Given the description of an element on the screen output the (x, y) to click on. 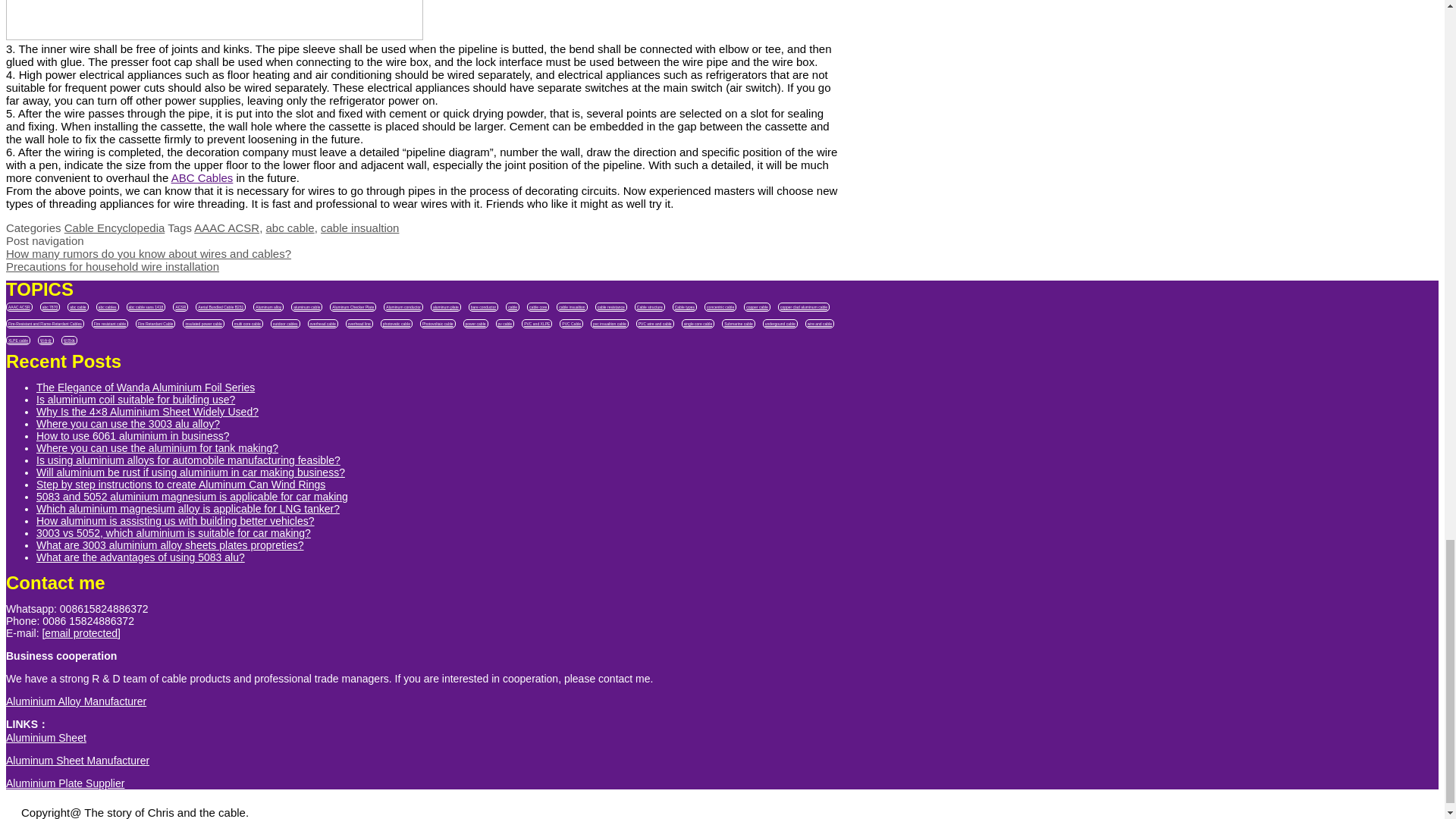
Cable Encyclopedia (114, 227)
Aluminum conductor (403, 307)
Previous (148, 253)
ACSR (180, 307)
ABC Cables (201, 177)
abc 7870 (50, 307)
cable (512, 307)
Cable types (684, 307)
abc cable sans 1418 (145, 307)
aluminum plate (445, 307)
AAAC ACSR (18, 307)
cable resistance (611, 307)
Aluminum Checker Plate (352, 307)
Aluminum alloy (268, 307)
How many rumors do you know about wires and cables? (148, 253)
